Given the description of an element on the screen output the (x, y) to click on. 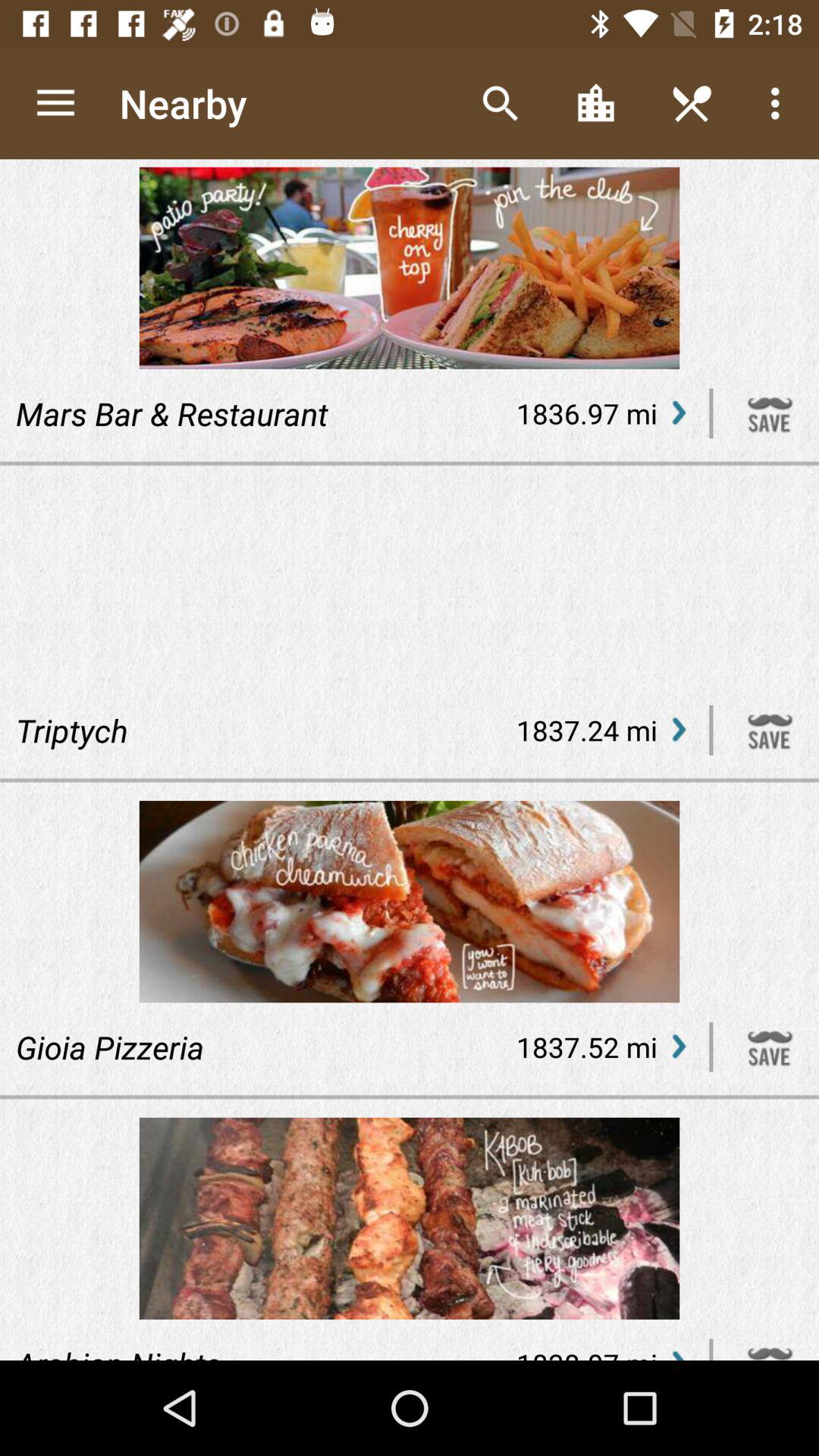
save restaurant (770, 413)
